Given the description of an element on the screen output the (x, y) to click on. 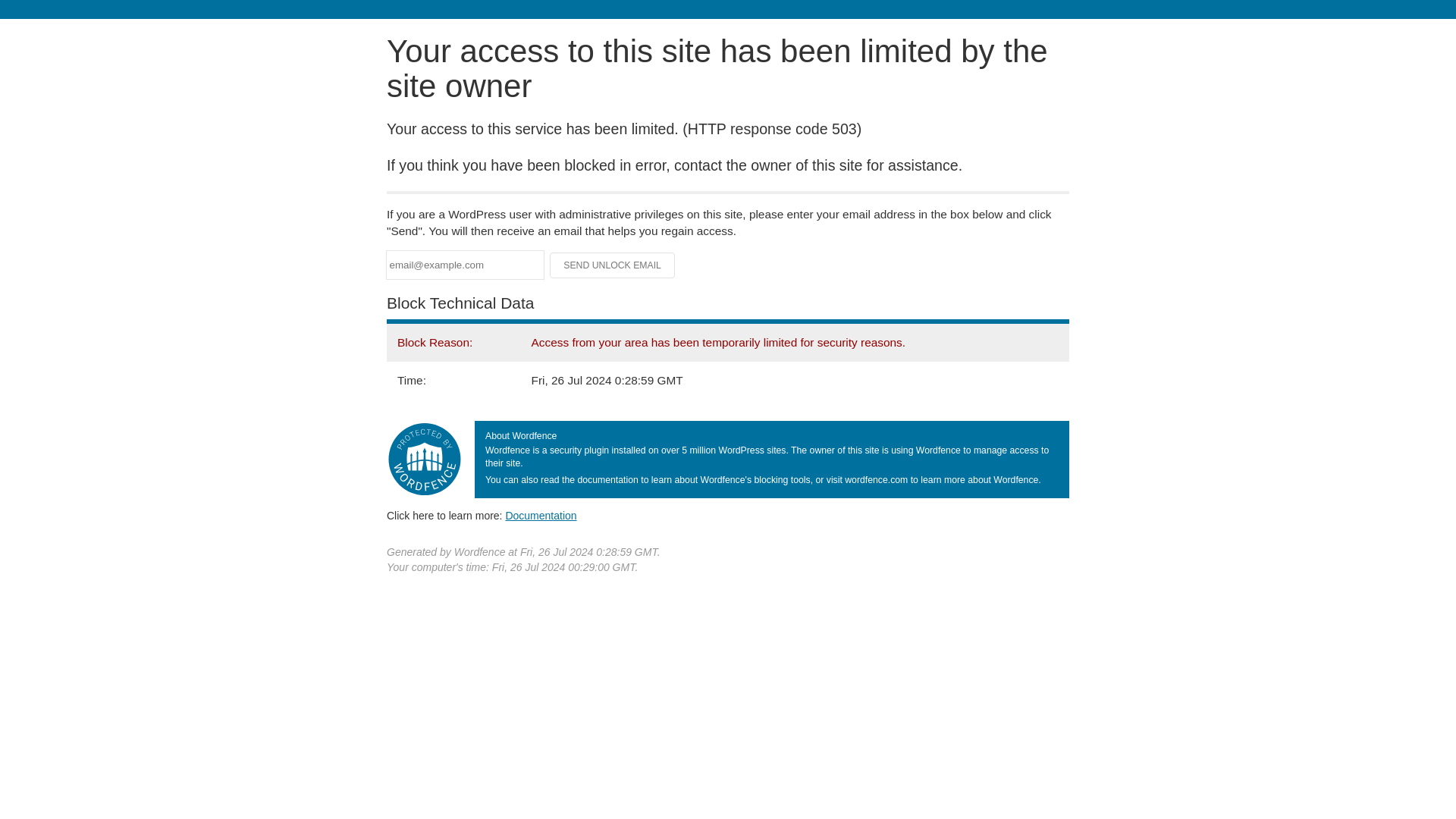
Documentation (540, 515)
Send Unlock Email (612, 265)
Send Unlock Email (612, 265)
